Given the description of an element on the screen output the (x, y) to click on. 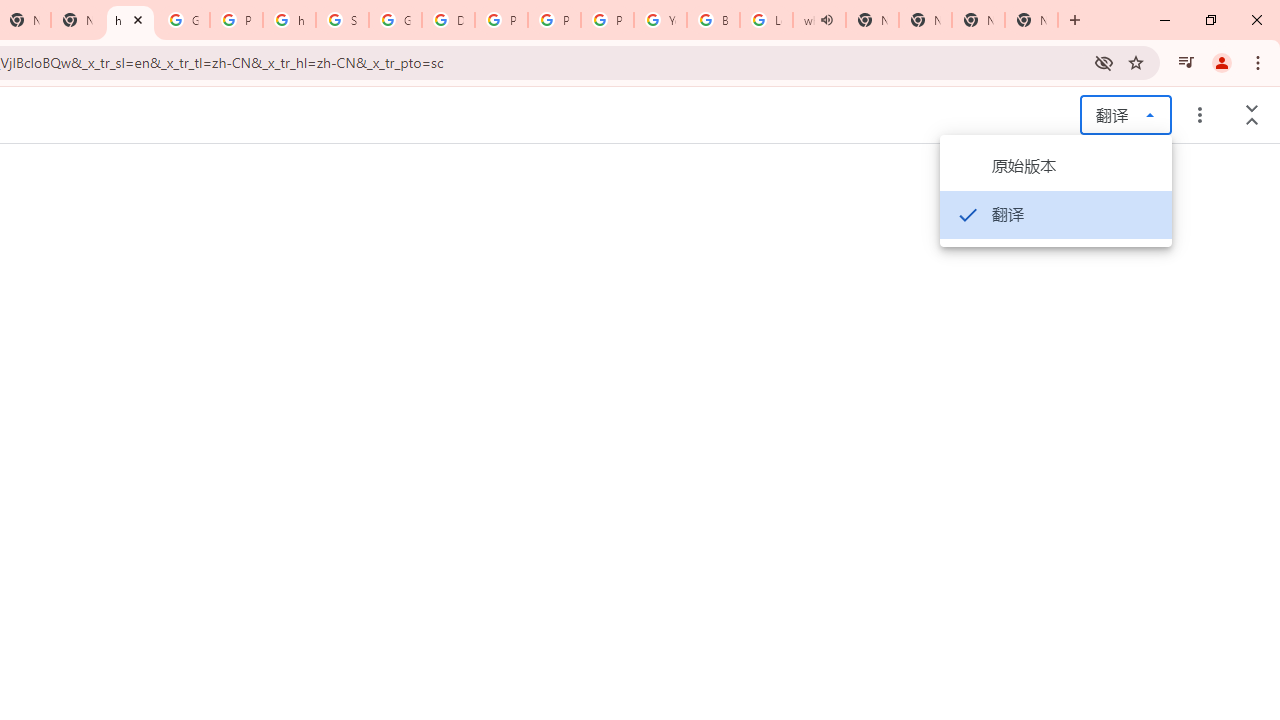
Privacy Help Center - Policies Help (501, 20)
Mute tab (826, 20)
Sign in - Google Accounts (342, 20)
Privacy Help Center - Policies Help (554, 20)
New Tab (1031, 20)
https://scholar.google.com/ (289, 20)
